Given the description of an element on the screen output the (x, y) to click on. 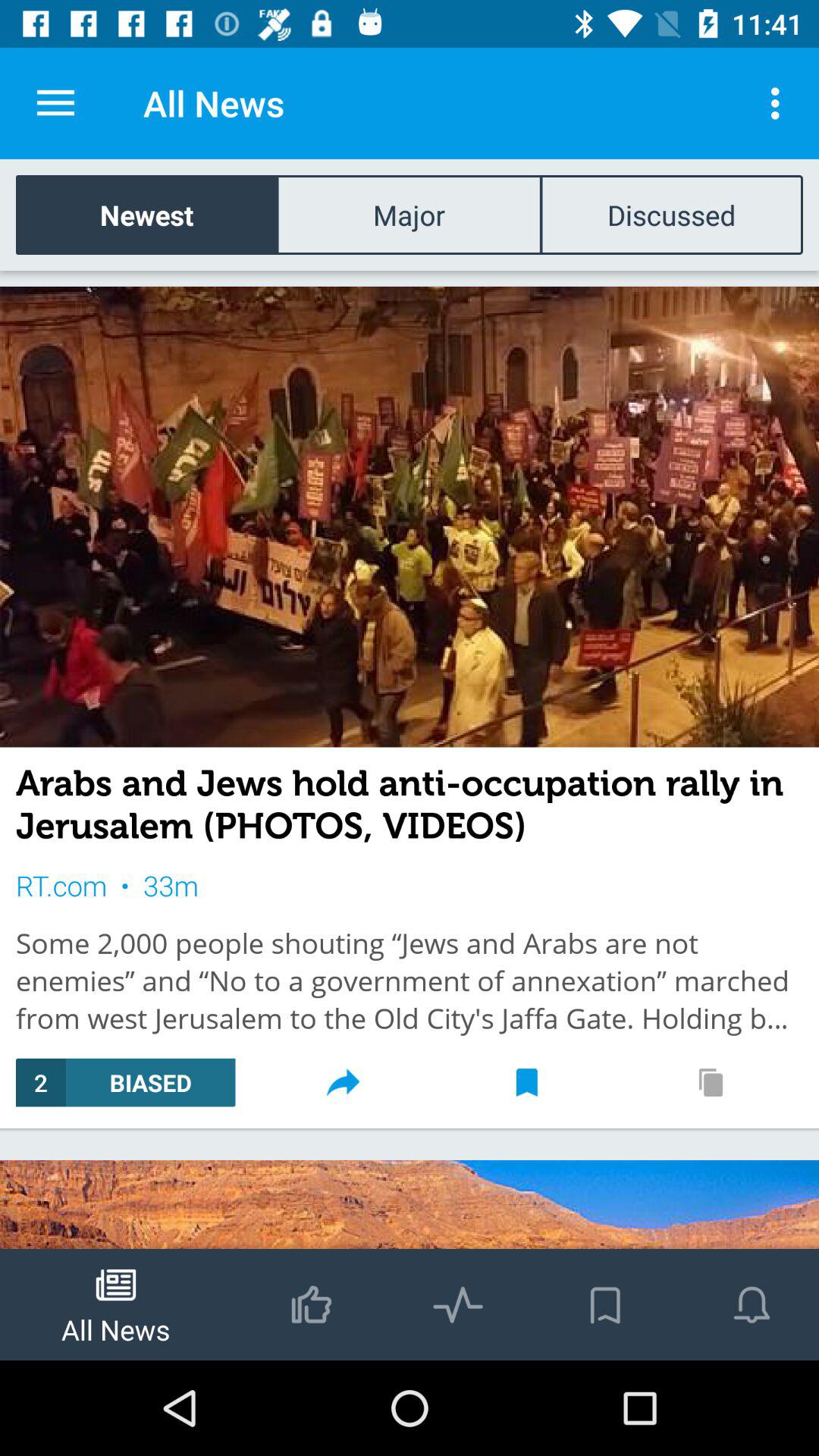
launch icon next to major (671, 214)
